Given the description of an element on the screen output the (x, y) to click on. 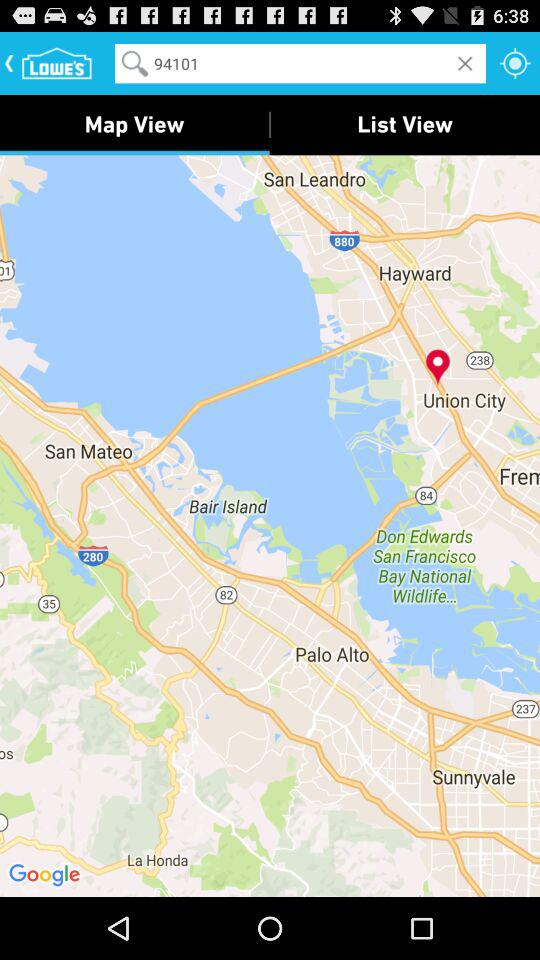
launch item to the right of 94101 icon (515, 62)
